Given the description of an element on the screen output the (x, y) to click on. 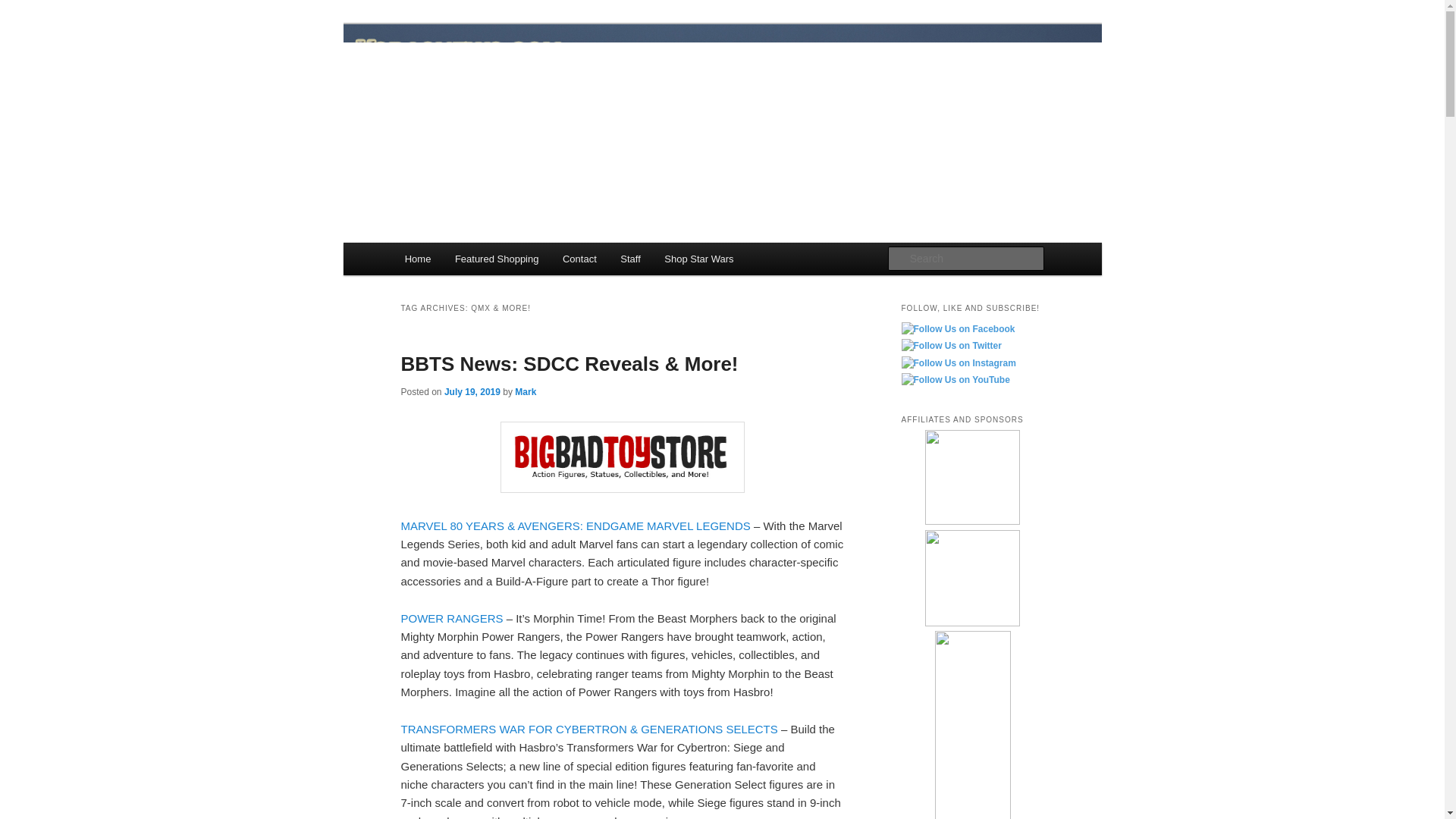
Shop Star Wars (698, 258)
Follow Us on Instagram (957, 363)
July 19, 2019 (472, 391)
View all posts by Mark (525, 391)
Follow Us on Twitter (951, 346)
Mark (525, 391)
Follow Us on Facebook (957, 329)
Staff (630, 258)
Featured Shopping (496, 258)
1:50 AM (472, 391)
Follow Us on YouTube (955, 380)
Search (24, 8)
POWER RANGERS (452, 617)
Contact (579, 258)
